Given the description of an element on the screen output the (x, y) to click on. 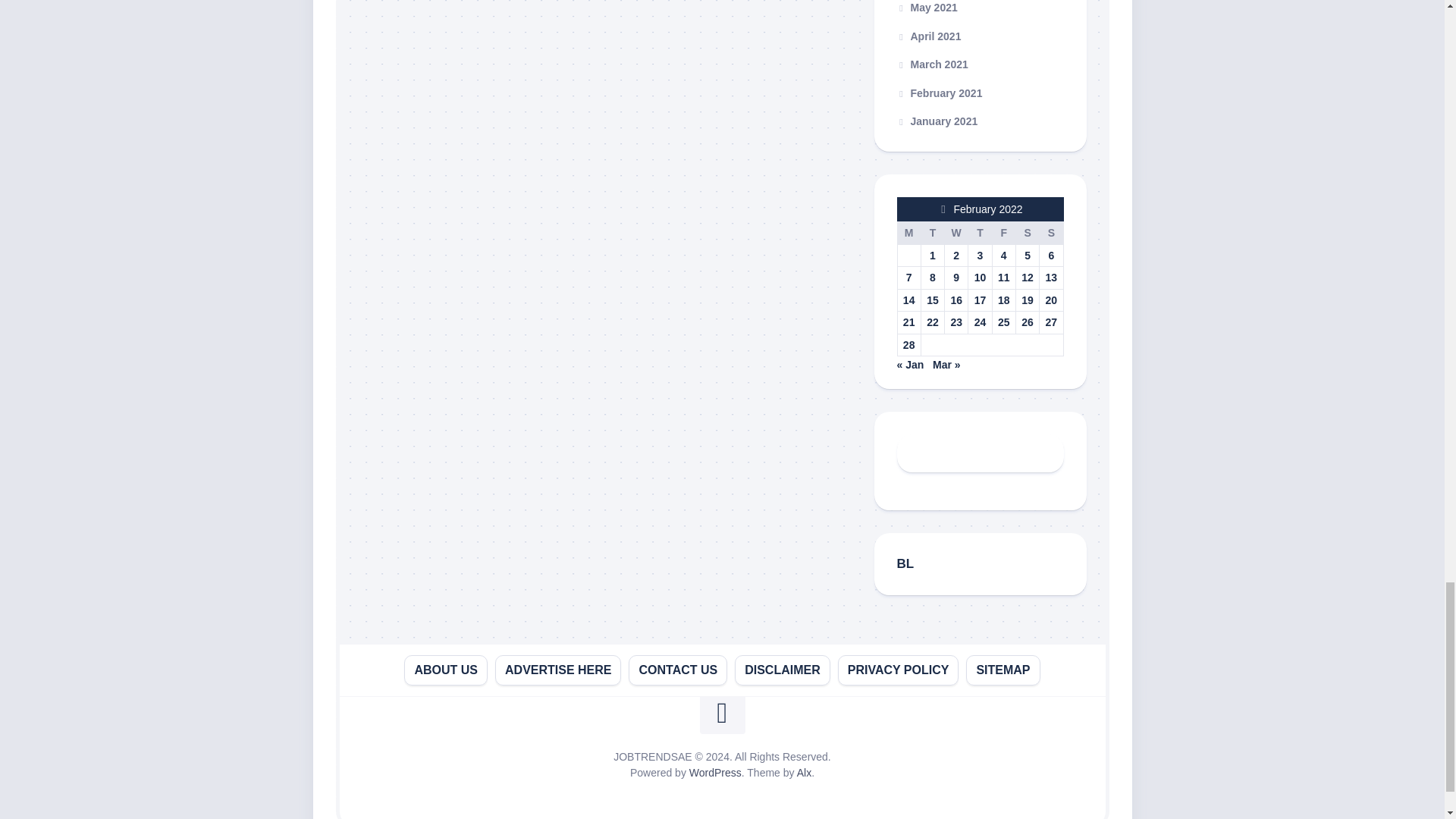
Monday (908, 232)
Thursday (979, 232)
Sunday (1050, 232)
Saturday (1026, 232)
Tuesday (931, 232)
Wednesday (956, 232)
Friday (1002, 232)
